Given the description of an element on the screen output the (x, y) to click on. 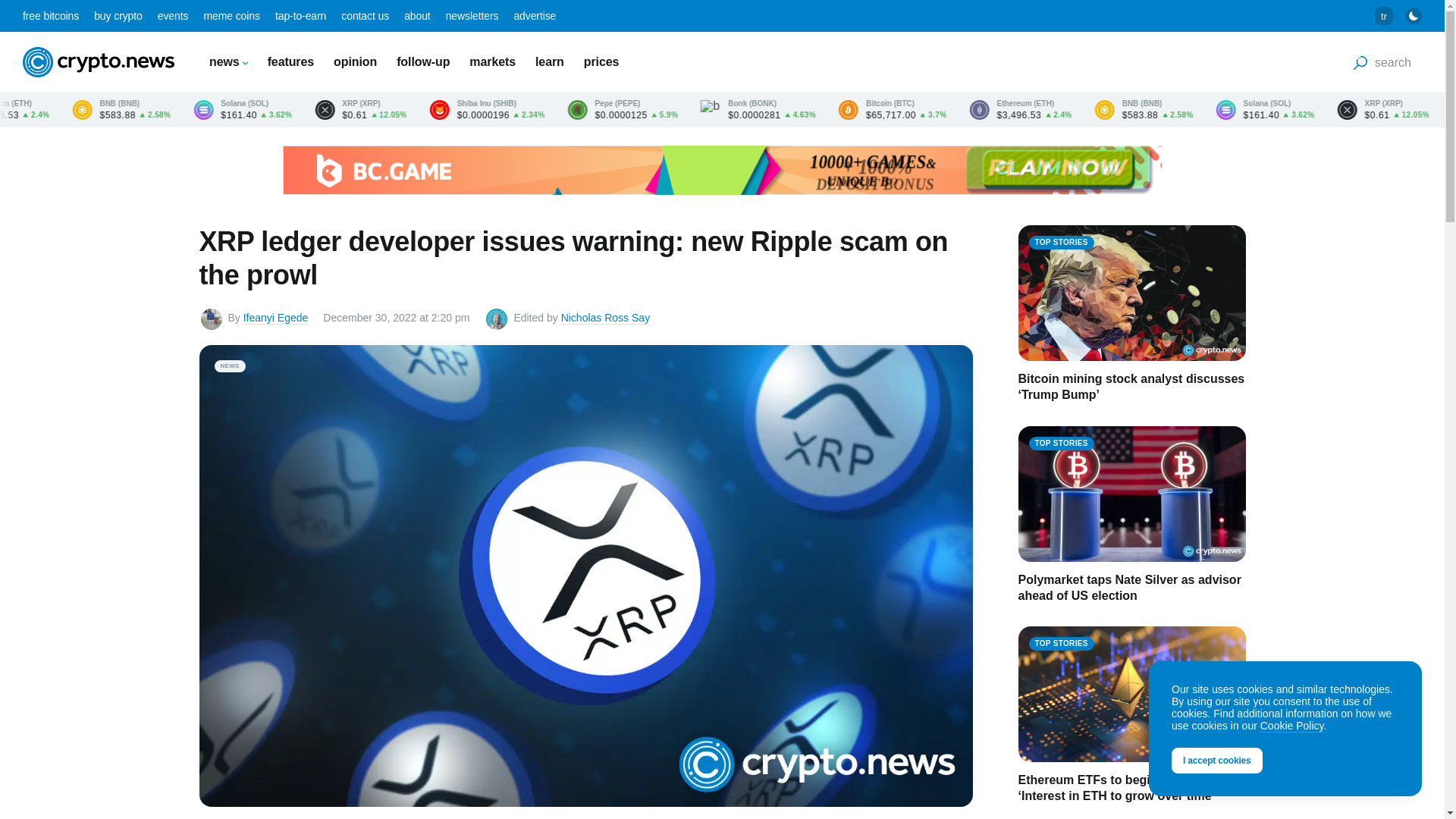
buy crypto (118, 15)
free bitcoins (50, 15)
advertise (534, 15)
about (417, 15)
tr (1383, 15)
events (173, 15)
meme coins (231, 15)
newsletters (472, 15)
tap-to-earn (300, 15)
markets (491, 61)
prices (601, 61)
learn (549, 61)
3rd party ad content (721, 169)
news (228, 61)
opinion (355, 61)
